Given the description of an element on the screen output the (x, y) to click on. 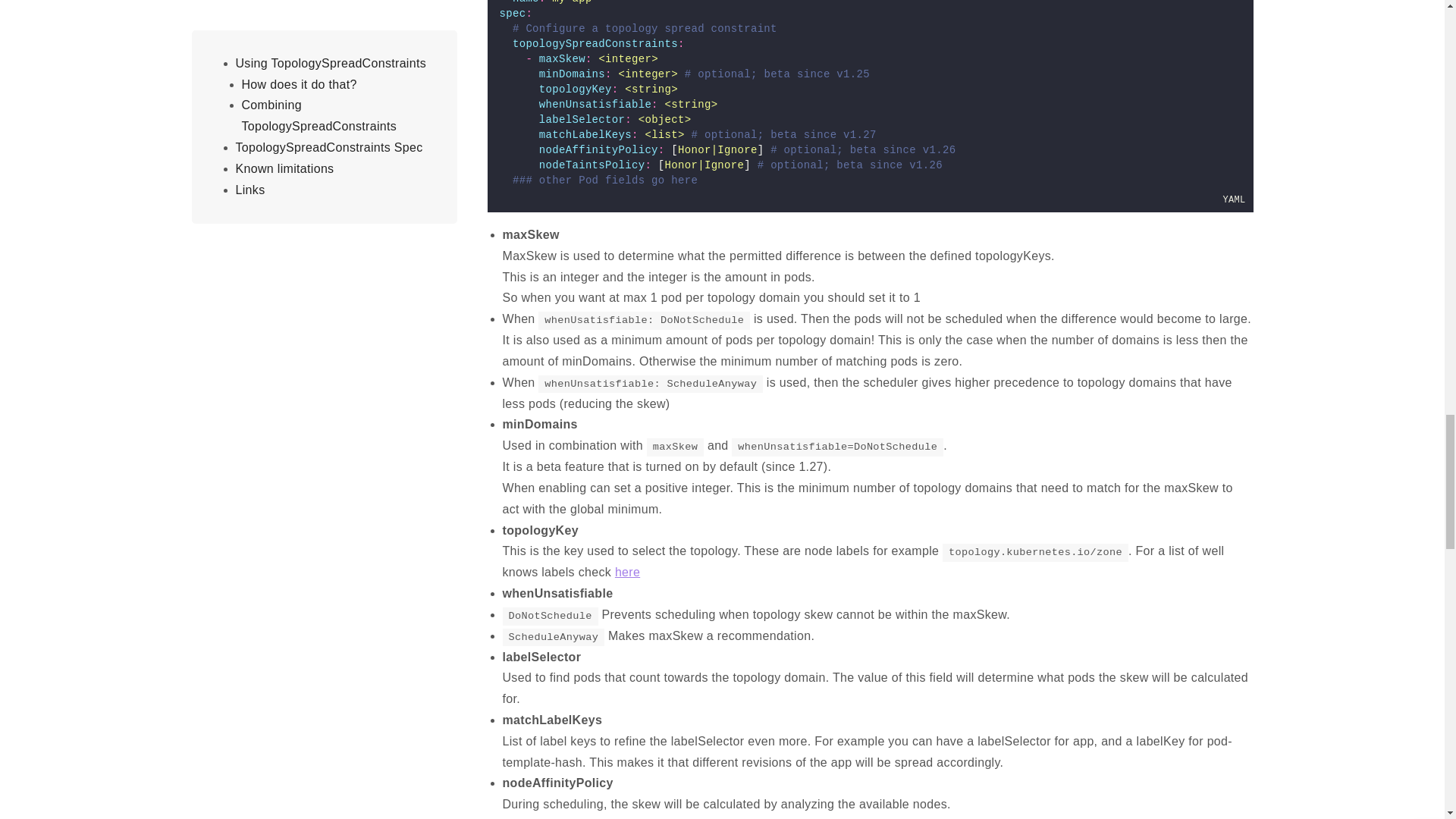
here (627, 571)
